Given the description of an element on the screen output the (x, y) to click on. 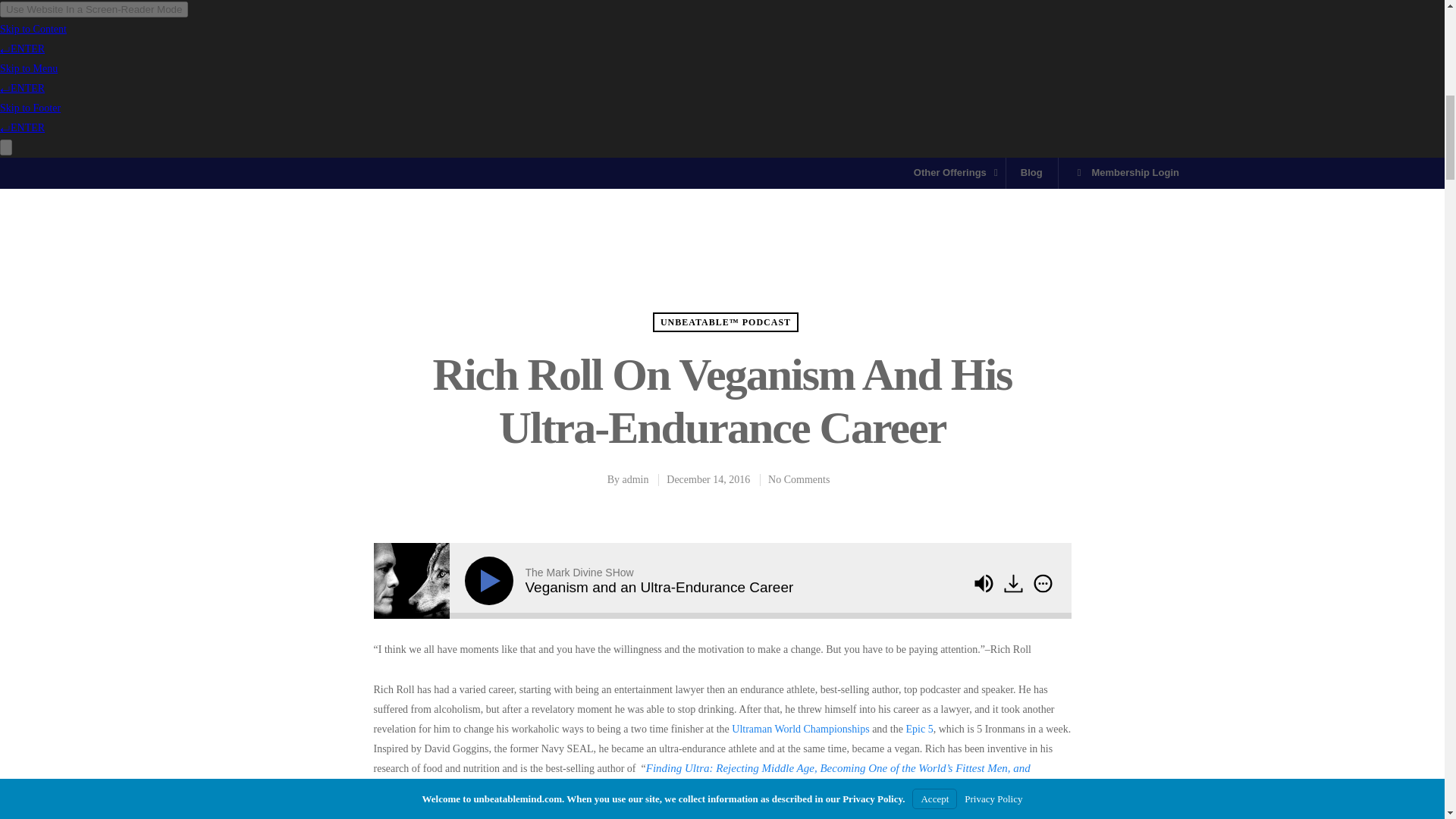
admin (636, 479)
Download (1014, 584)
Download (1013, 583)
Posts by admin (636, 479)
No Comments (798, 479)
Blog (1032, 173)
Membership Login (1125, 173)
Epic 5 (919, 728)
Ultraman World Championships (800, 728)
More (1043, 583)
